Given the description of an element on the screen output the (x, y) to click on. 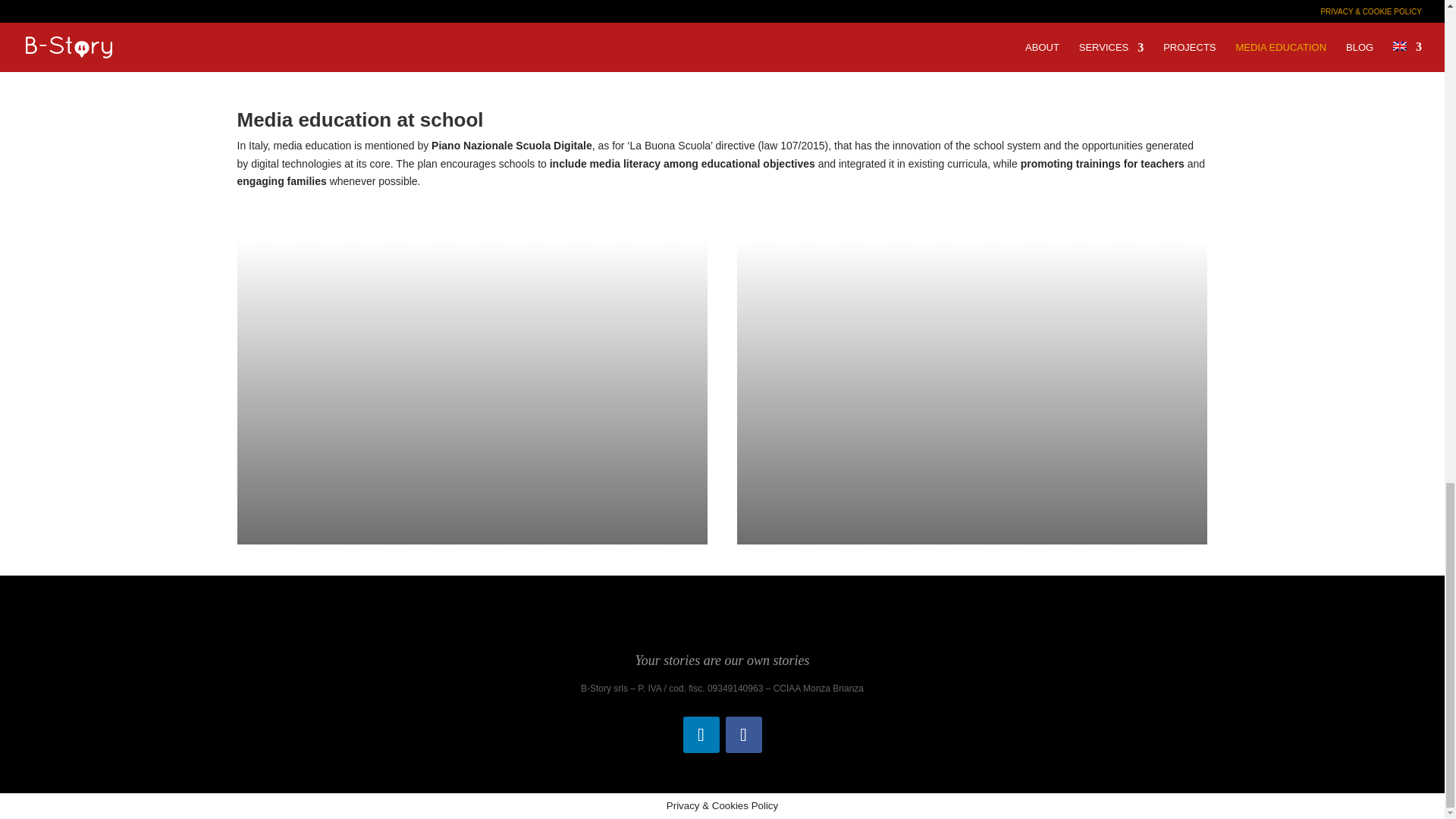
Follow on LinkedIn (700, 734)
Follow on Facebook (743, 734)
